Given the description of an element on the screen output the (x, y) to click on. 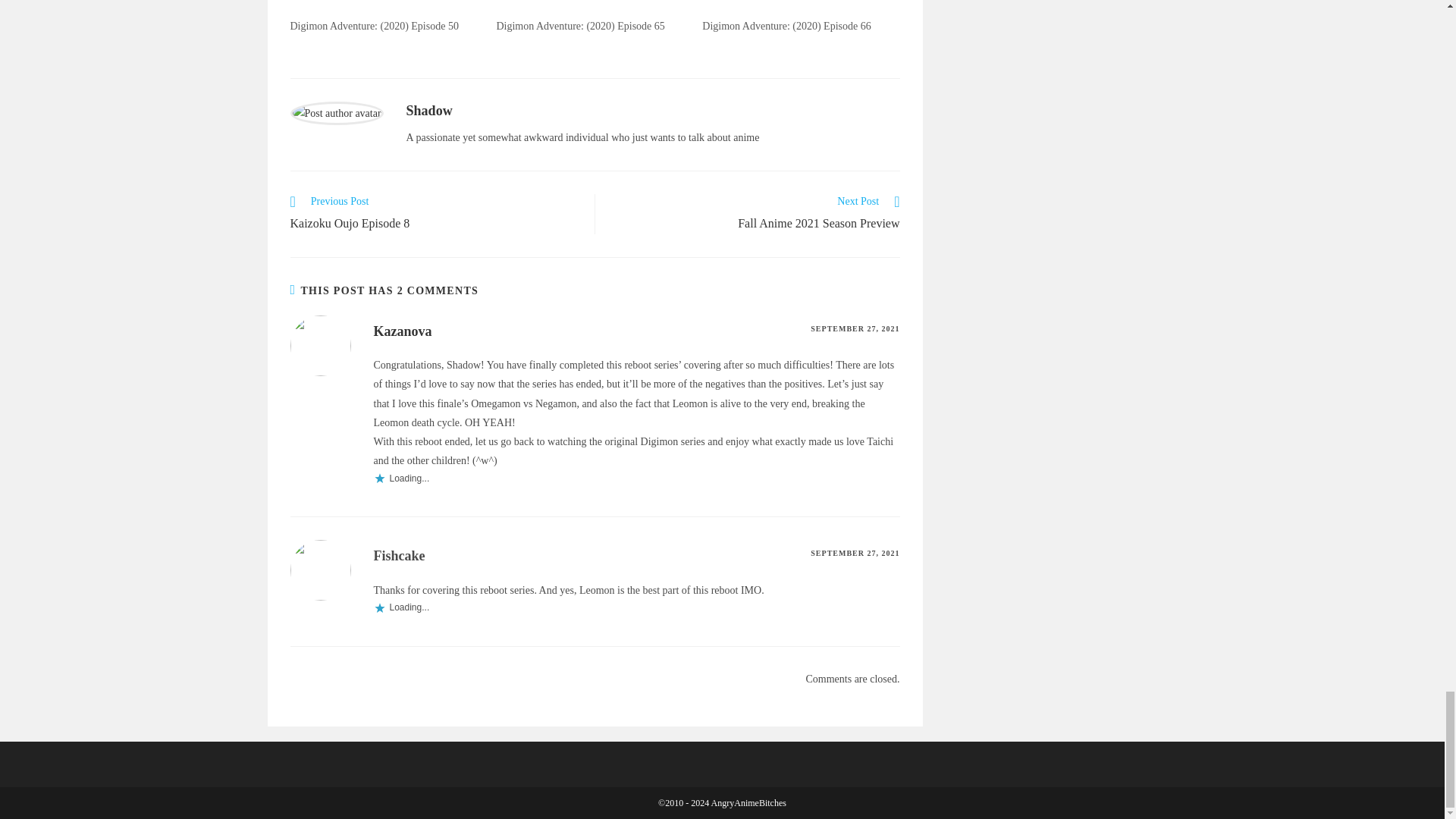
Visit author page (335, 112)
Visit author page (429, 110)
